Given the description of an element on the screen output the (x, y) to click on. 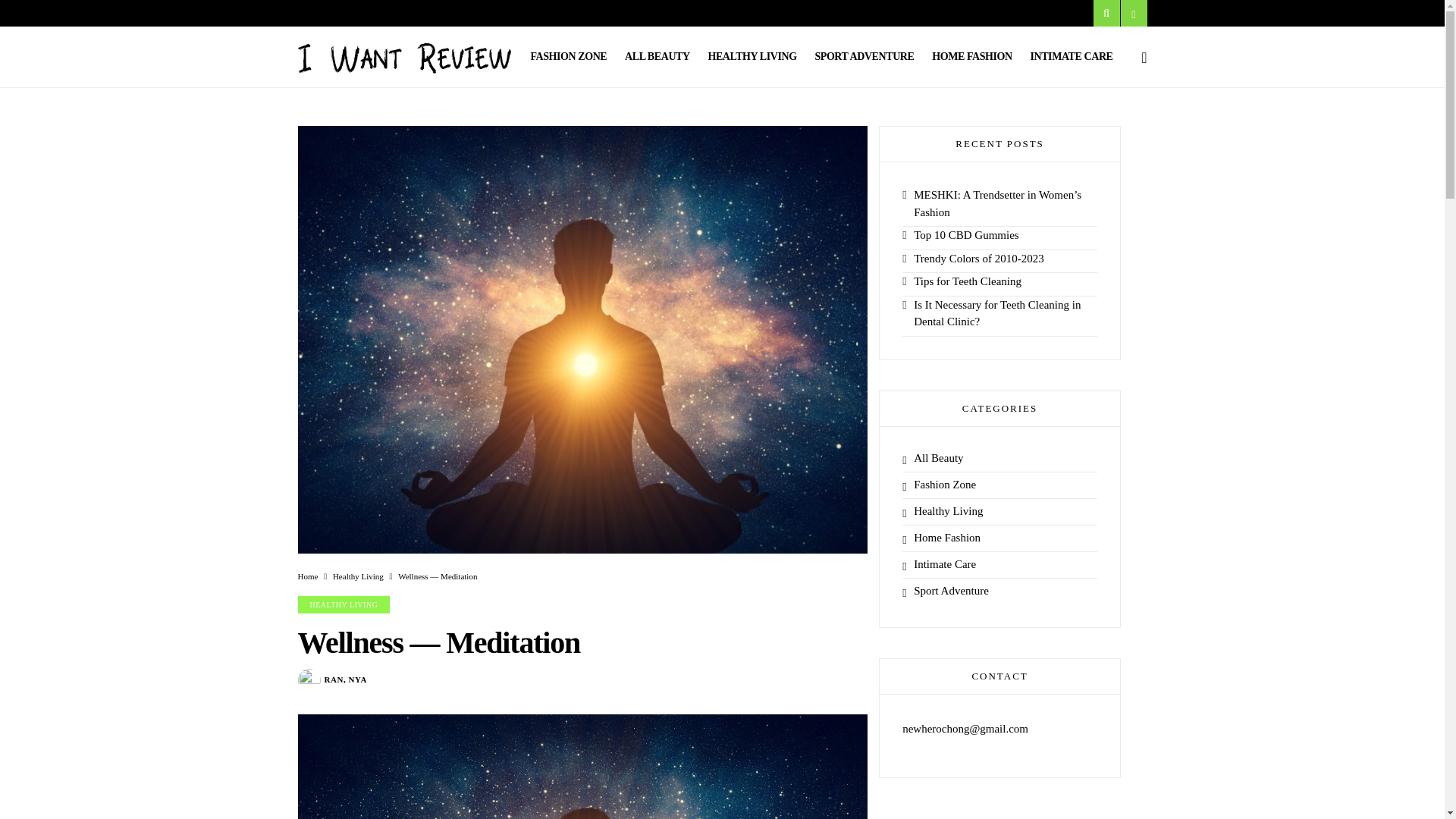
SPORT ADVENTURE (863, 56)
Healthy Living (358, 575)
HOME FASHION (971, 56)
INTIMATE CARE (1070, 56)
ALL BEAUTY (657, 56)
FASHION ZONE (568, 56)
RAN, NYA (346, 678)
